Given the description of an element on the screen output the (x, y) to click on. 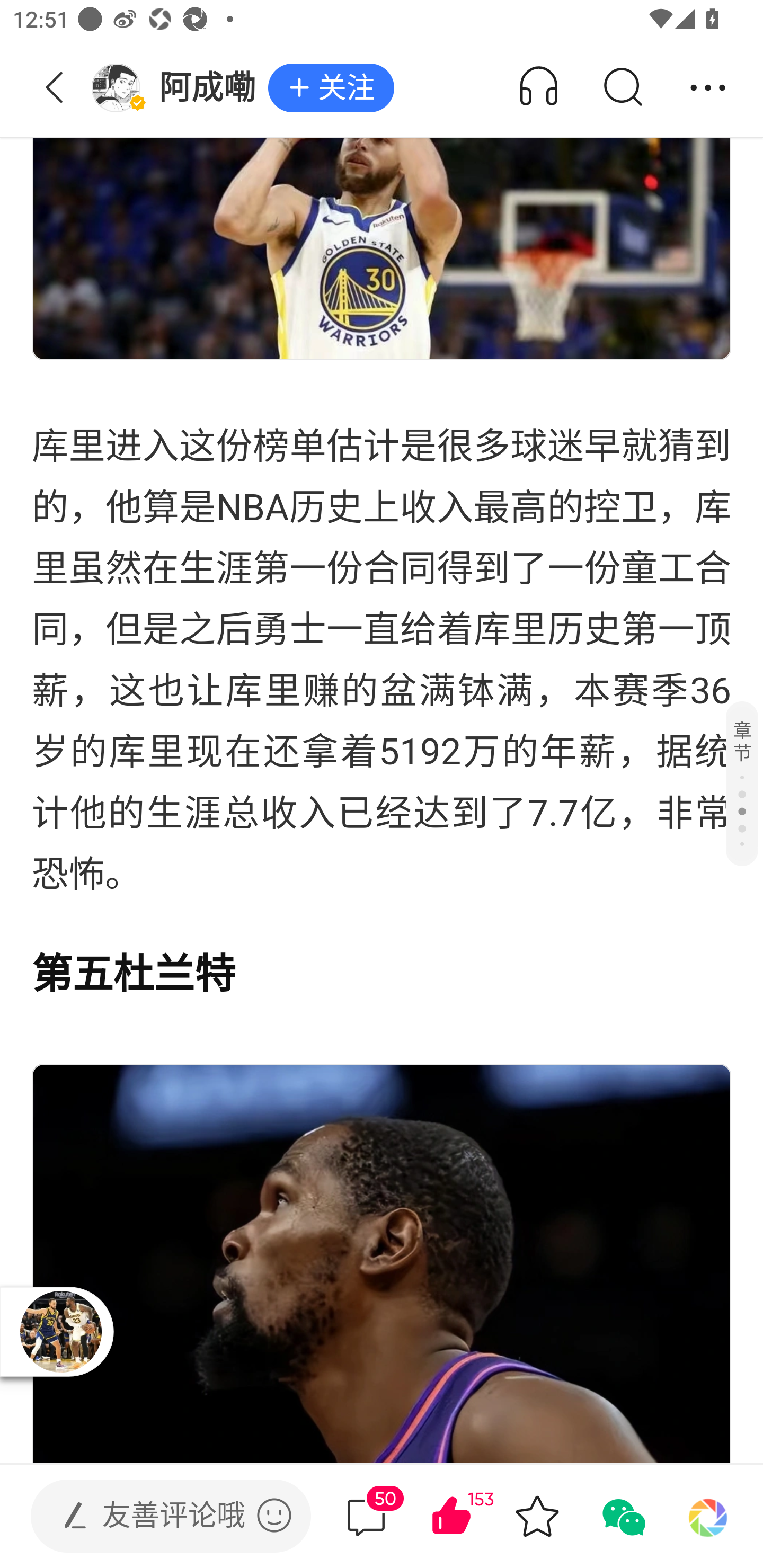
新闻图片 (381, 180)
阿成嘞 (179, 87)
搜索  (622, 87)
分享  (707, 87)
 返回 (54, 87)
 关注 (330, 88)
章节 (741, 782)
新闻图片 (381, 1262)
播放器 (60, 1331)
发表评论  友善评论哦 发表评论  (155, 1516)
50评论  50 评论 (365, 1516)
已赞 (476, 1516)
收藏  (536, 1516)
分享到微信  (622, 1516)
分享到朋友圈 (707, 1516)
 (274, 1515)
